Given the description of an element on the screen output the (x, y) to click on. 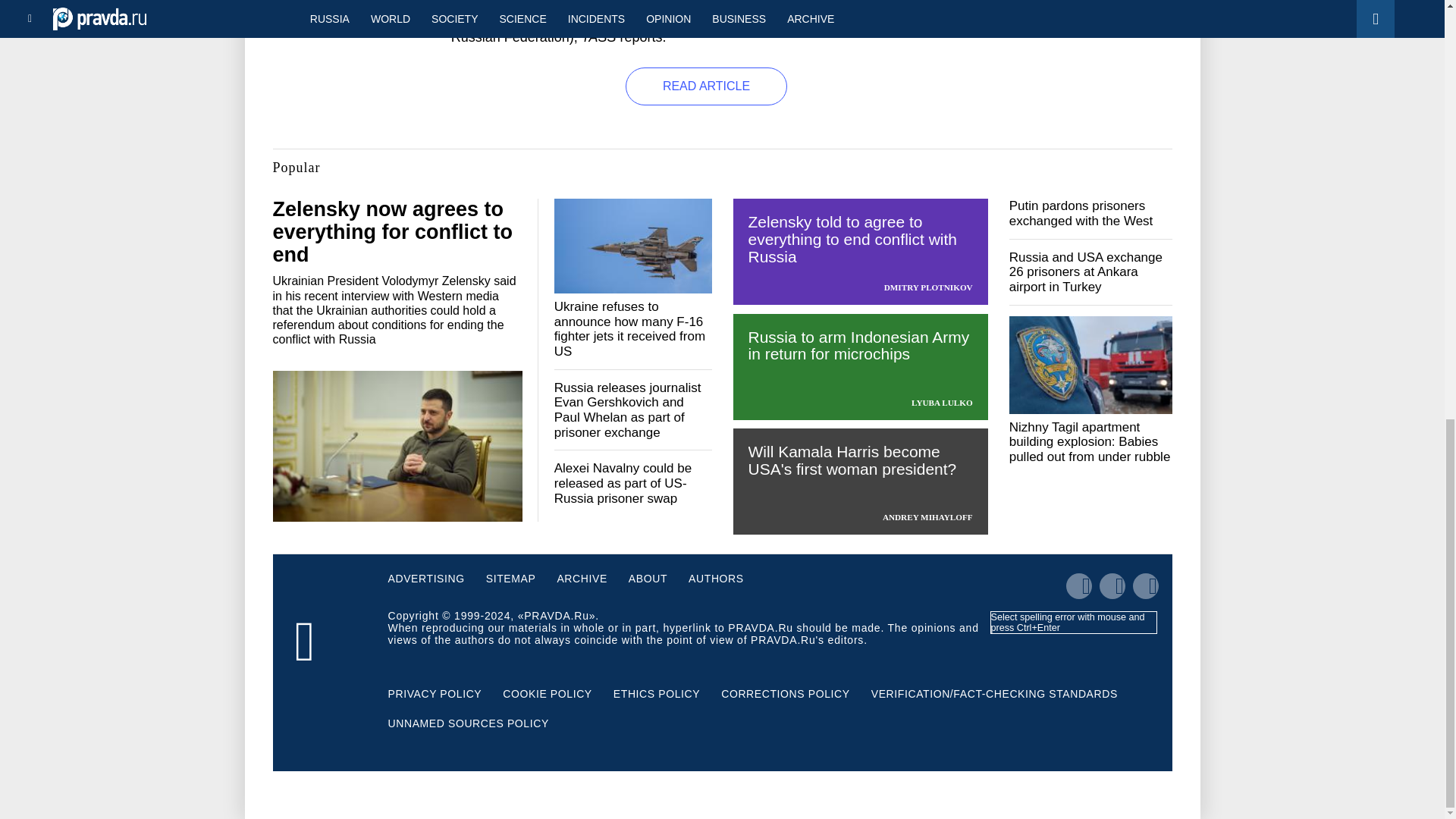
Back to top (1418, 37)
